Given the description of an element on the screen output the (x, y) to click on. 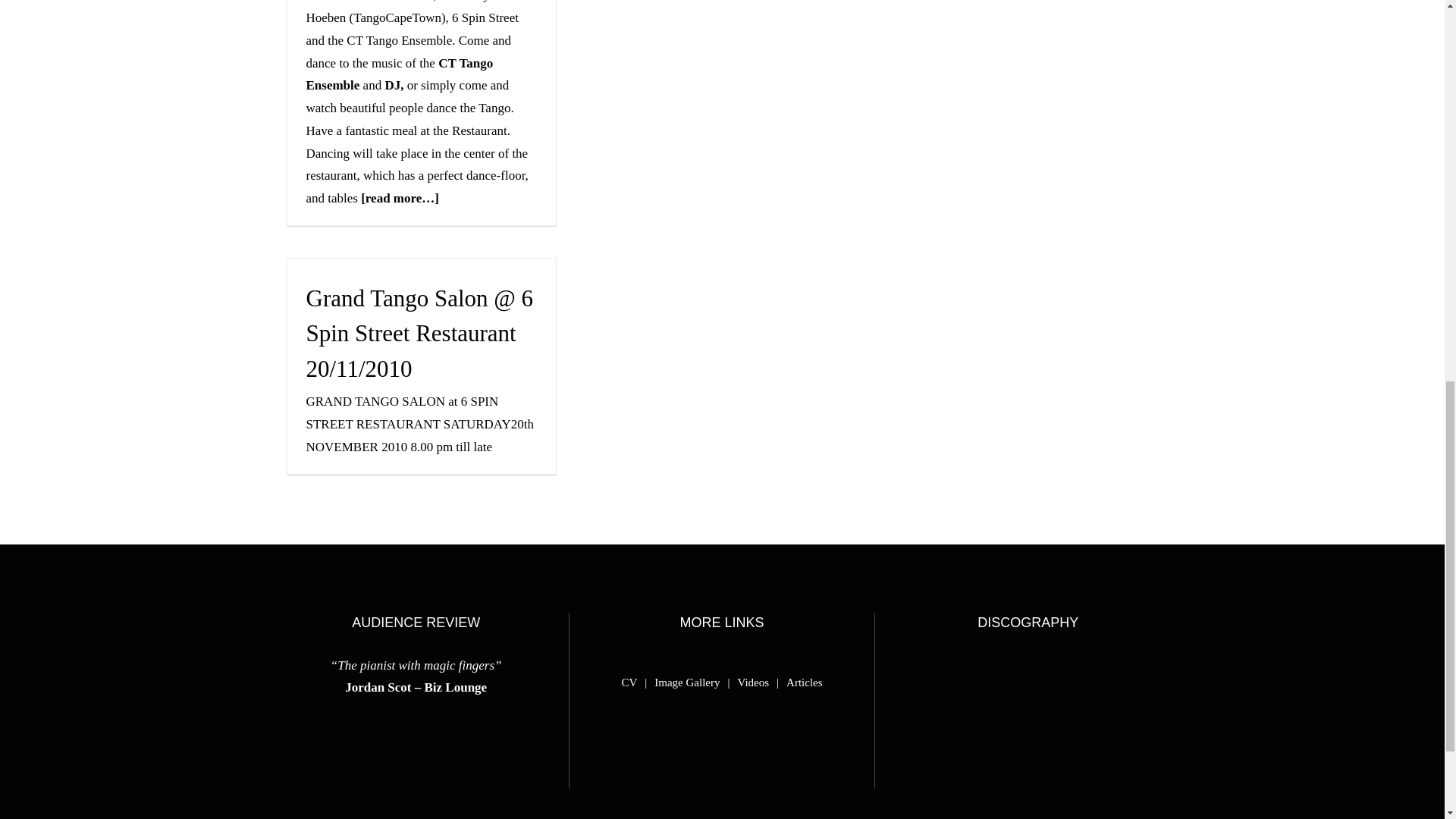
Tango Dreams (1055, 681)
Tango Club (1110, 681)
CV (637, 681)
Videos (761, 681)
Night Sessions (944, 681)
Articles (804, 681)
Image Gallery (694, 681)
